Given the description of an element on the screen output the (x, y) to click on. 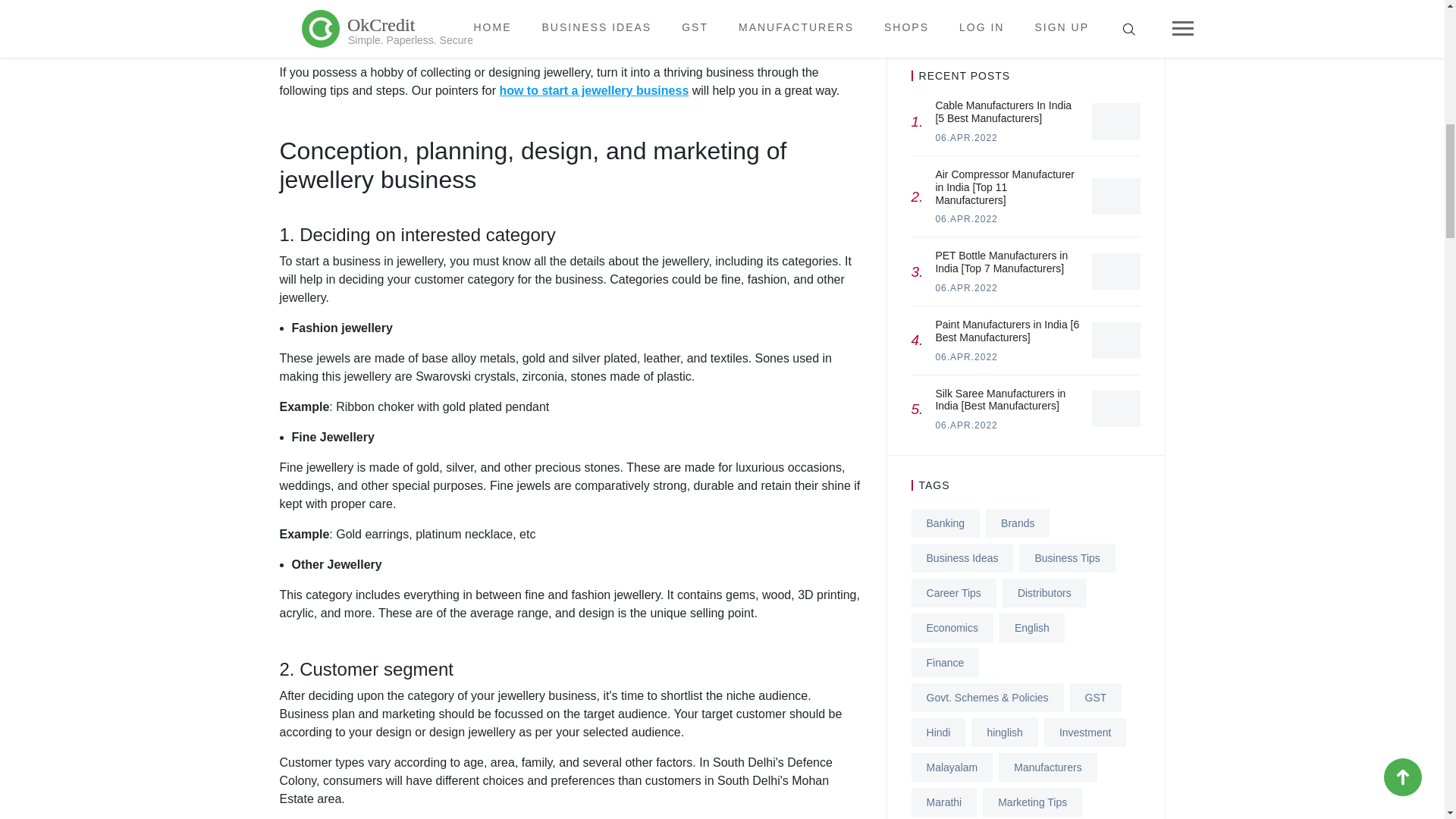
how to start a jewellery business (593, 90)
06 April 2022 (965, 425)
06 April 2022 (965, 287)
06 April 2022 (965, 218)
06 April 2022 (965, 357)
06 April 2022 (965, 137)
